Given the description of an element on the screen output the (x, y) to click on. 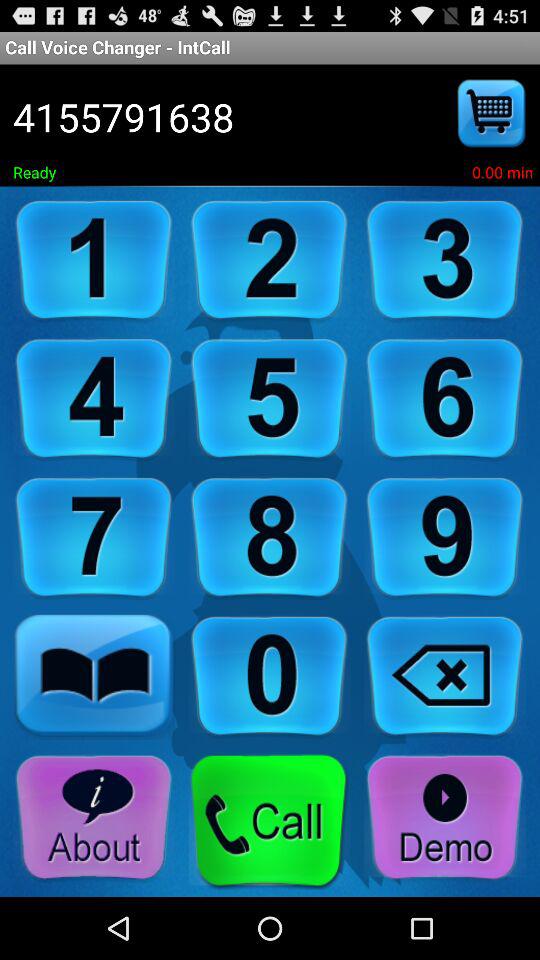
select number 2 (269, 260)
